Given the description of an element on the screen output the (x, y) to click on. 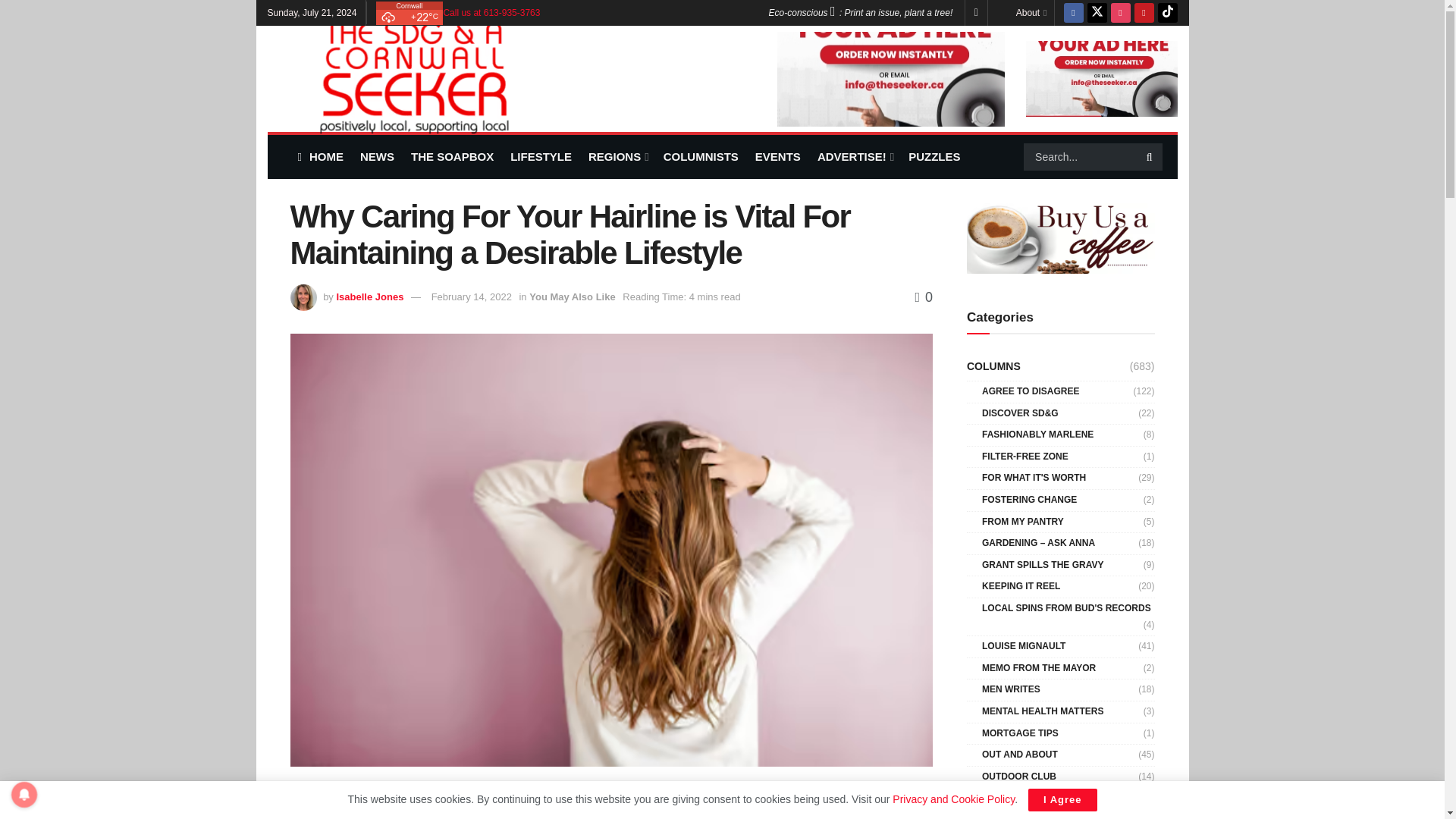
EVENTS (777, 156)
PUZZLES (933, 156)
HOME (319, 156)
COLUMNISTS (700, 156)
REGIONS (617, 156)
About (1030, 12)
LIFESTYLE (541, 156)
Call us at 613-935-3763 (491, 12)
NEWS (376, 156)
THE SOAPBOX (451, 156)
ADVERTISE! (853, 156)
